Given the description of an element on the screen output the (x, y) to click on. 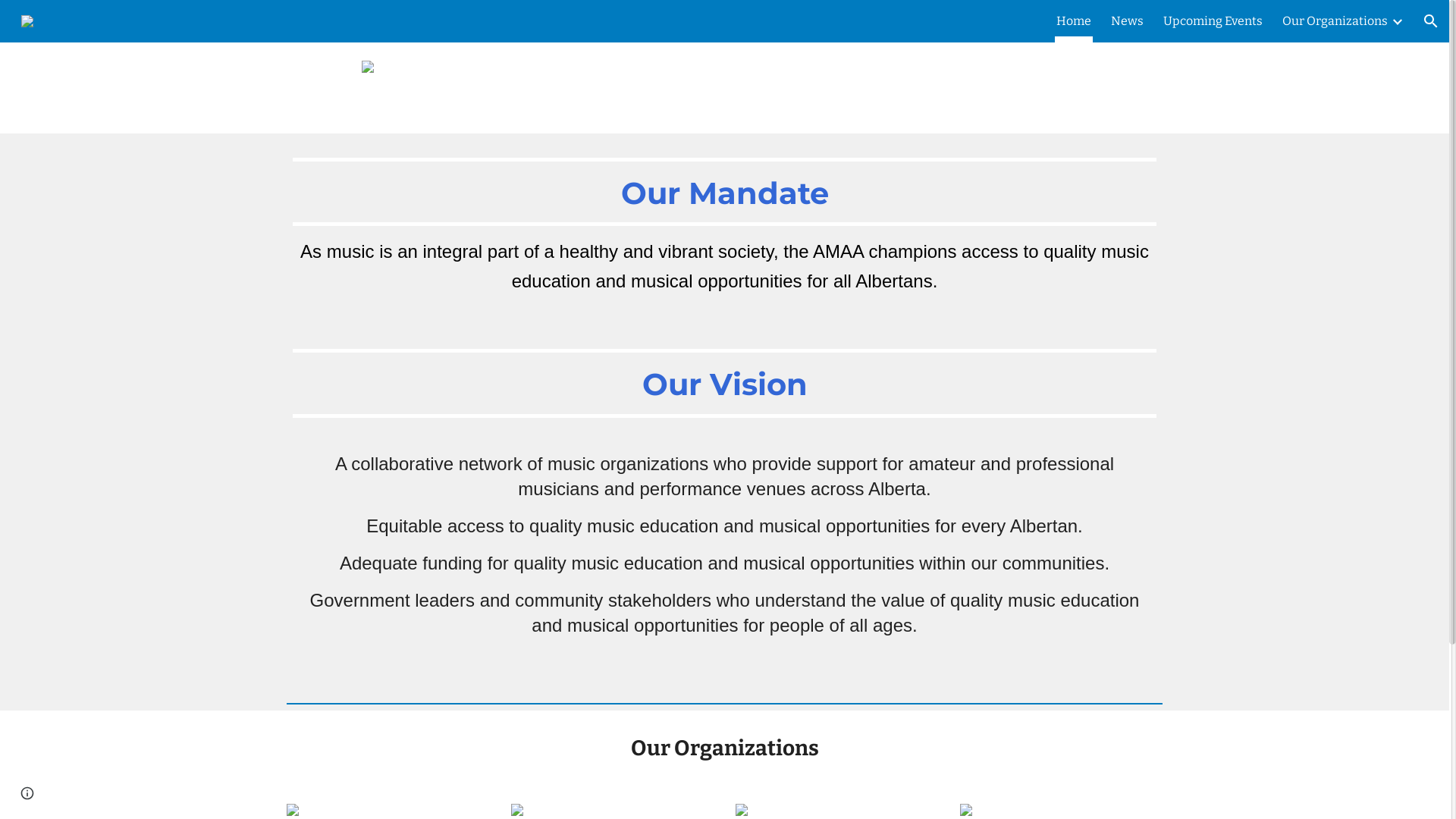
News Element type: text (1126, 20)
Our Organizations Element type: text (1334, 20)
Expand/Collapse Element type: hover (1396, 20)
Upcoming Events Element type: text (1212, 20)
Home Element type: text (1073, 20)
